Given the description of an element on the screen output the (x, y) to click on. 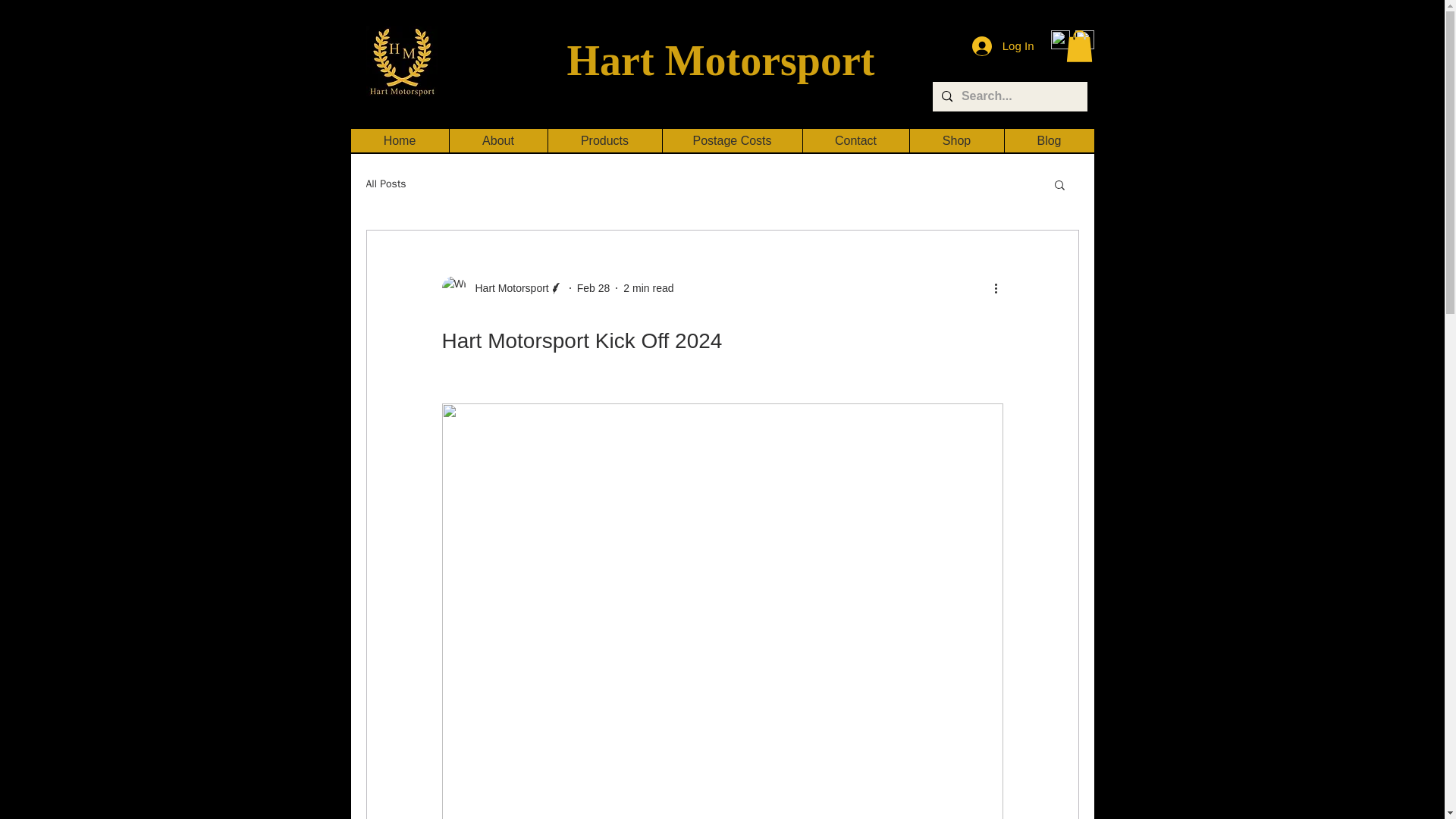
About (497, 140)
Shop (955, 140)
Postage Costs (731, 140)
Home (399, 140)
Hart Motorsport (501, 288)
Feb 28 (593, 287)
Contact (855, 140)
Products (604, 140)
2 min read (647, 287)
Hart Motorsport (506, 288)
Log In (1002, 45)
Hart Motorsport (721, 60)
Blog (1049, 140)
All Posts (385, 183)
